Given the description of an element on the screen output the (x, y) to click on. 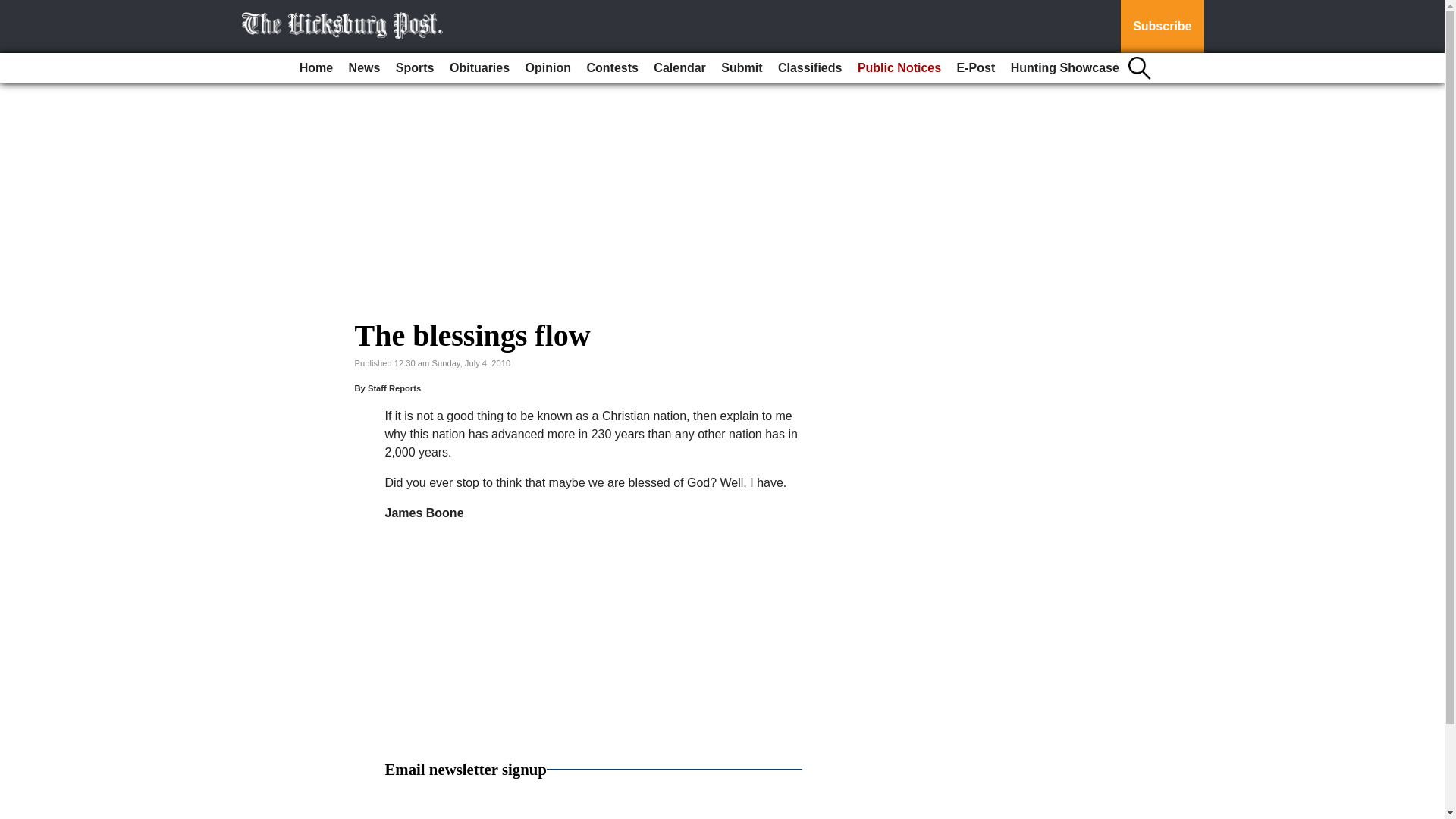
Classifieds (809, 68)
Subscribe (1162, 26)
Calendar (679, 68)
Go (13, 9)
Opinion (547, 68)
Staff Reports (394, 388)
Sports (415, 68)
E-Post (975, 68)
Public Notices (899, 68)
Home (316, 68)
Hunting Showcase (1064, 68)
Contests (611, 68)
Obituaries (479, 68)
News (364, 68)
Submit (741, 68)
